Given the description of an element on the screen output the (x, y) to click on. 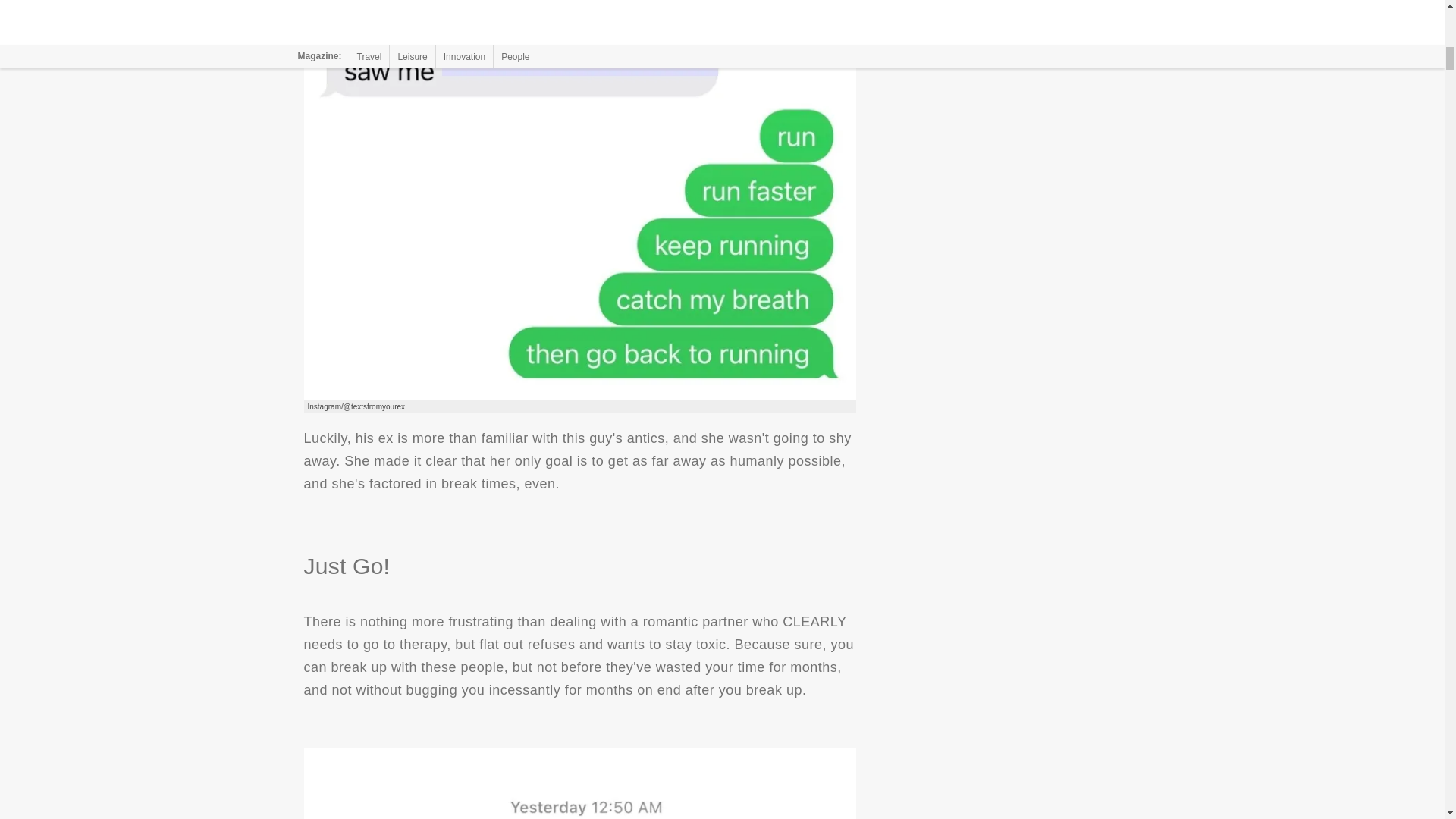
Just Go! (579, 783)
